Given the description of an element on the screen output the (x, y) to click on. 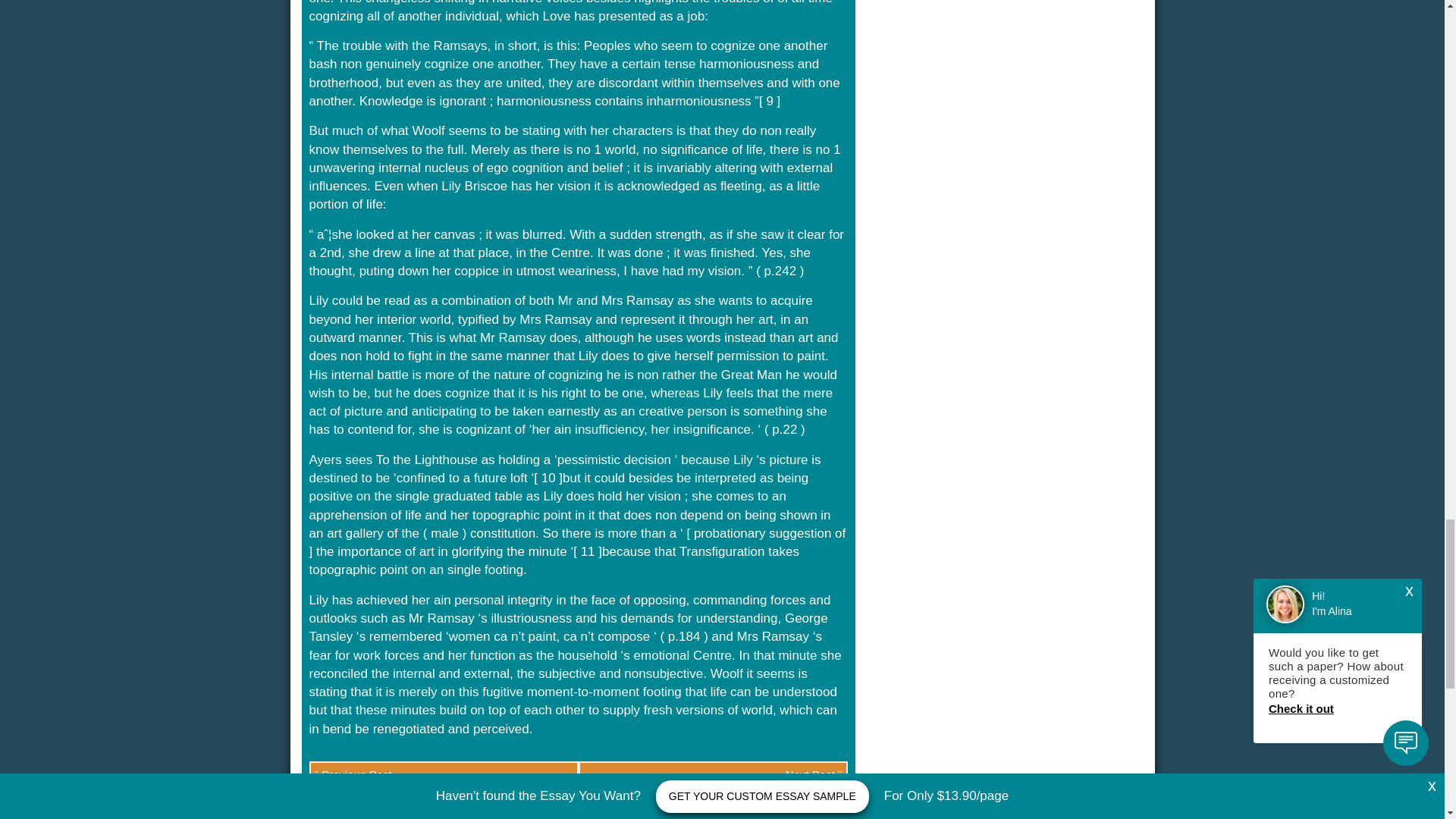
Previous Post (443, 774)
Next Post (712, 774)
